Given the description of an element on the screen output the (x, y) to click on. 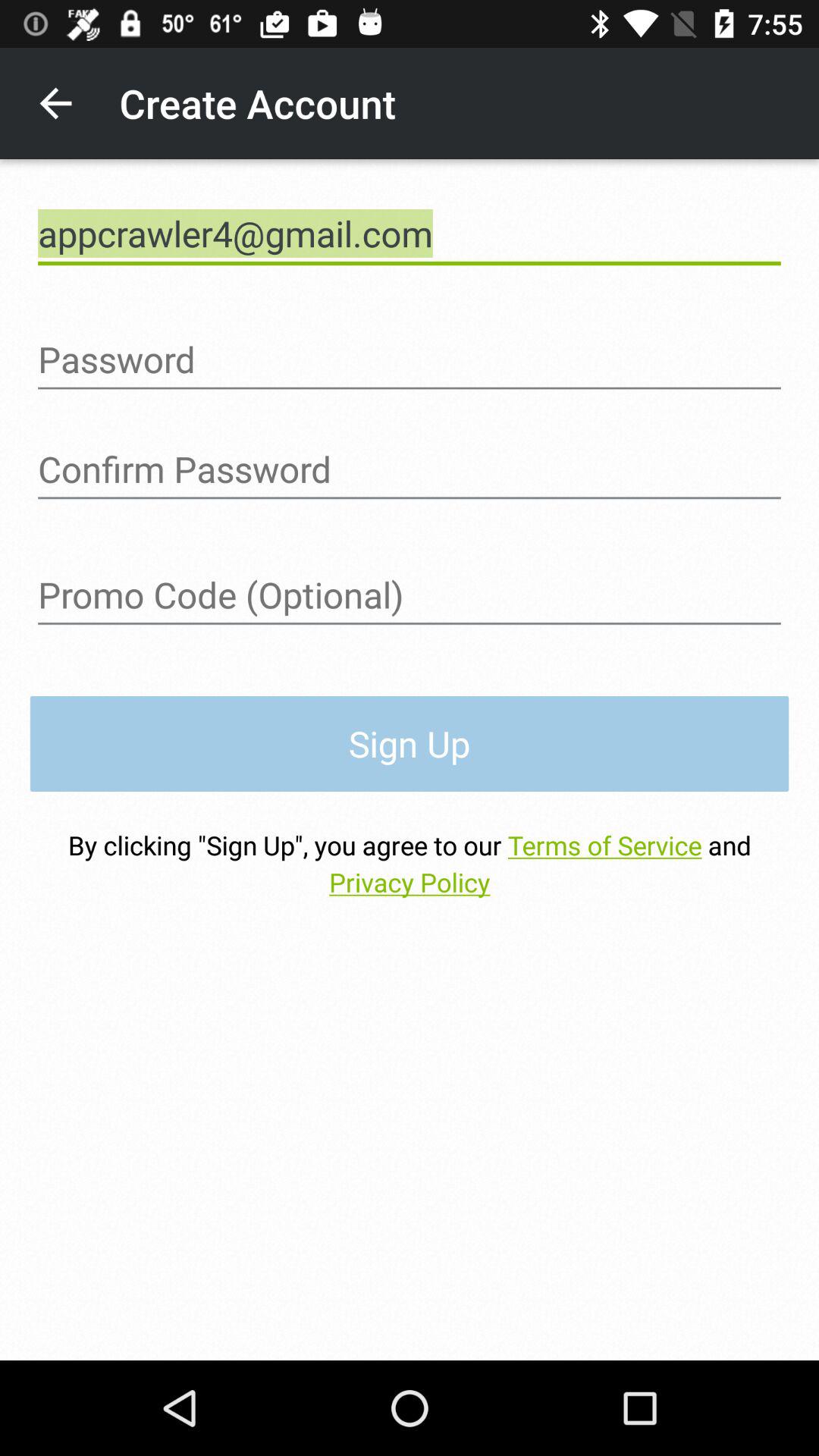
input promo code (409, 595)
